Given the description of an element on the screen output the (x, y) to click on. 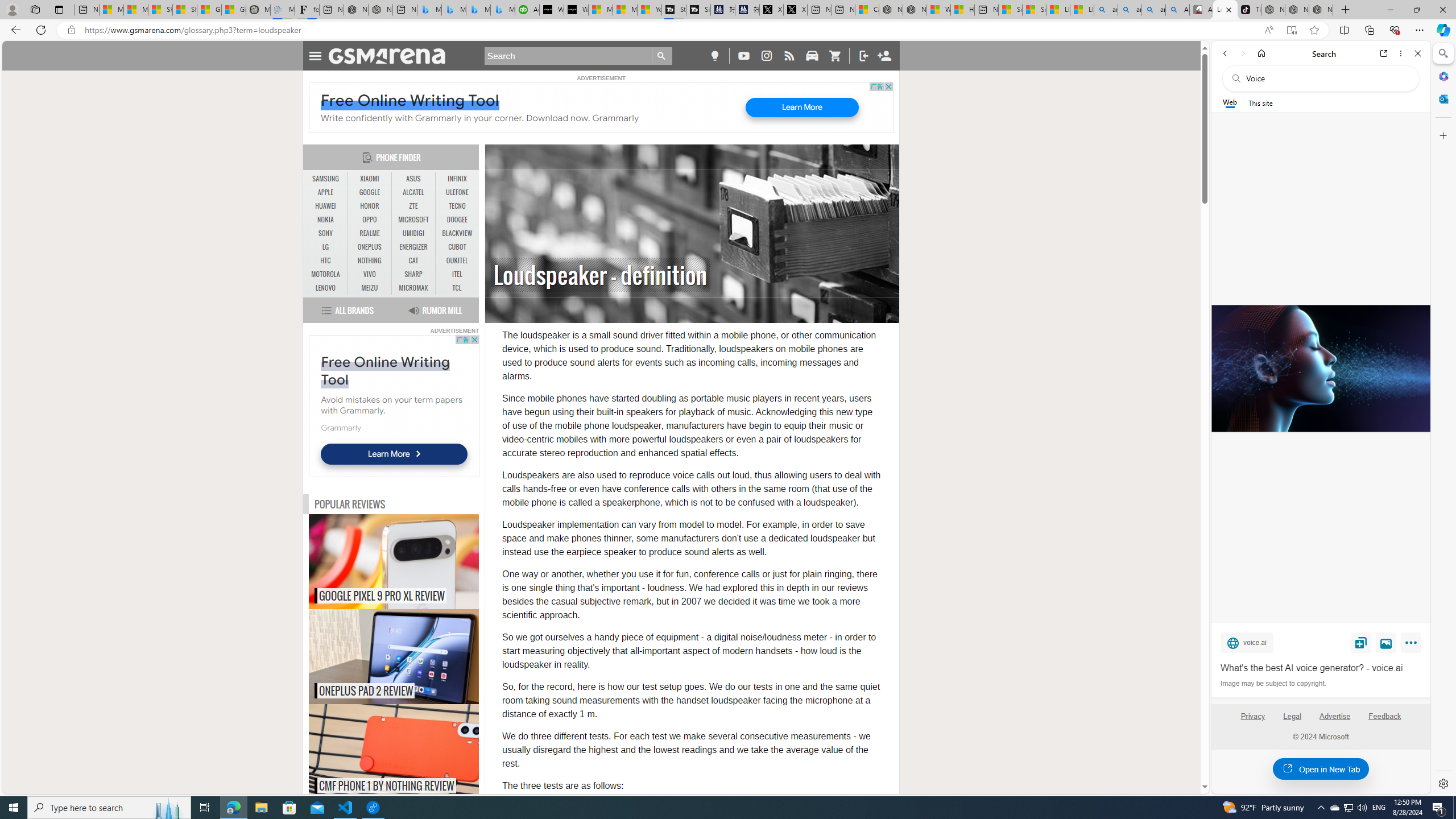
APPLE (325, 192)
MEIZU (369, 287)
ENERGIZER (413, 246)
OnePlus Pad 2 review ONEPLUS PAD 2 REVIEW (393, 656)
INFINIX (457, 178)
HTC (325, 260)
GOOGLE (369, 192)
amazon - Search Images (1153, 9)
DOOGEE (457, 219)
AutomationID: anchor (391, 55)
ONEPLUS (369, 246)
